Given the description of an element on the screen output the (x, y) to click on. 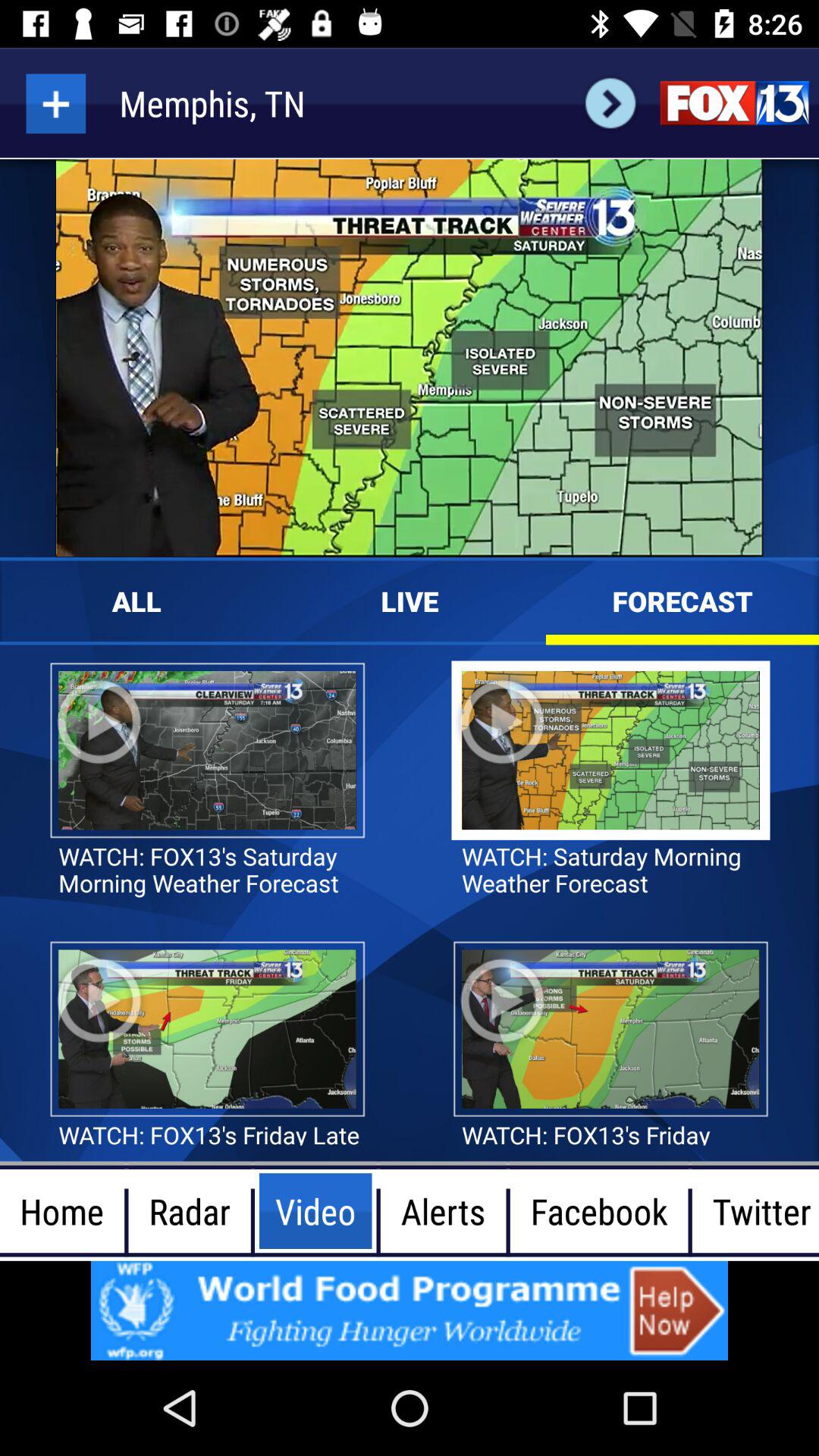
go to next (610, 103)
